Given the description of an element on the screen output the (x, y) to click on. 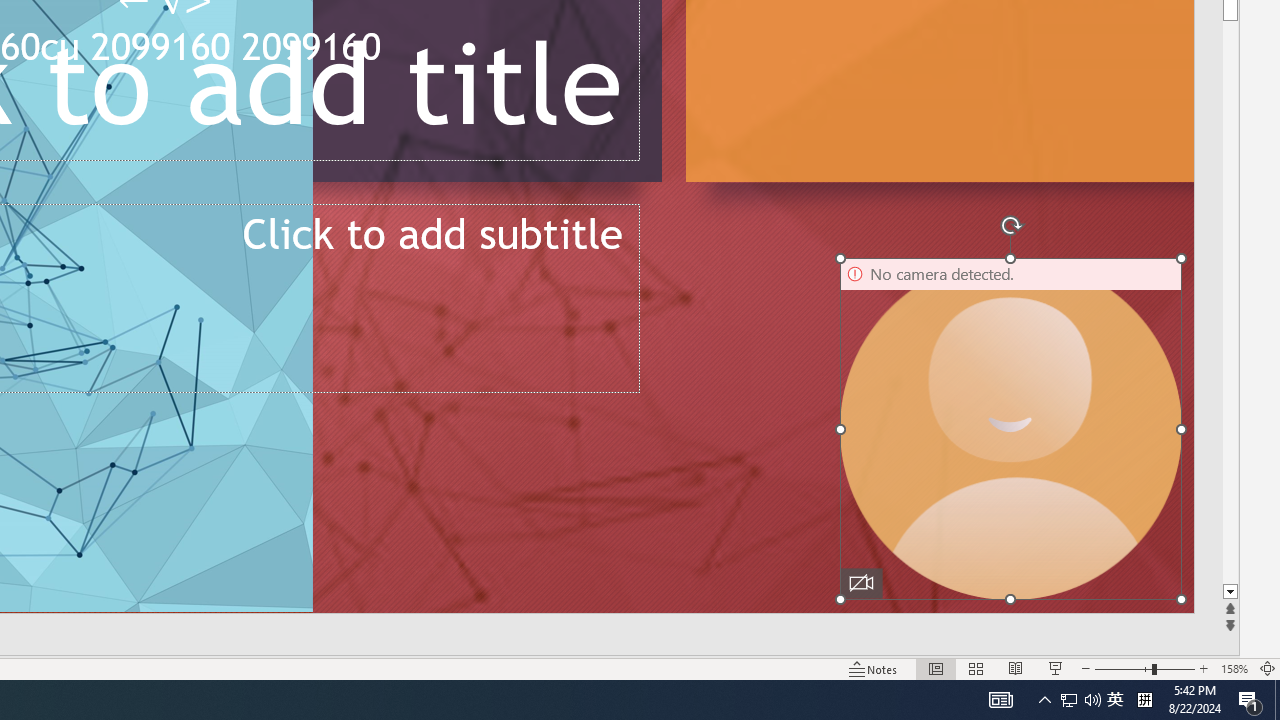
Camera 16, No camera detected. (1010, 429)
Zoom 158% (1234, 668)
